Given the description of an element on the screen output the (x, y) to click on. 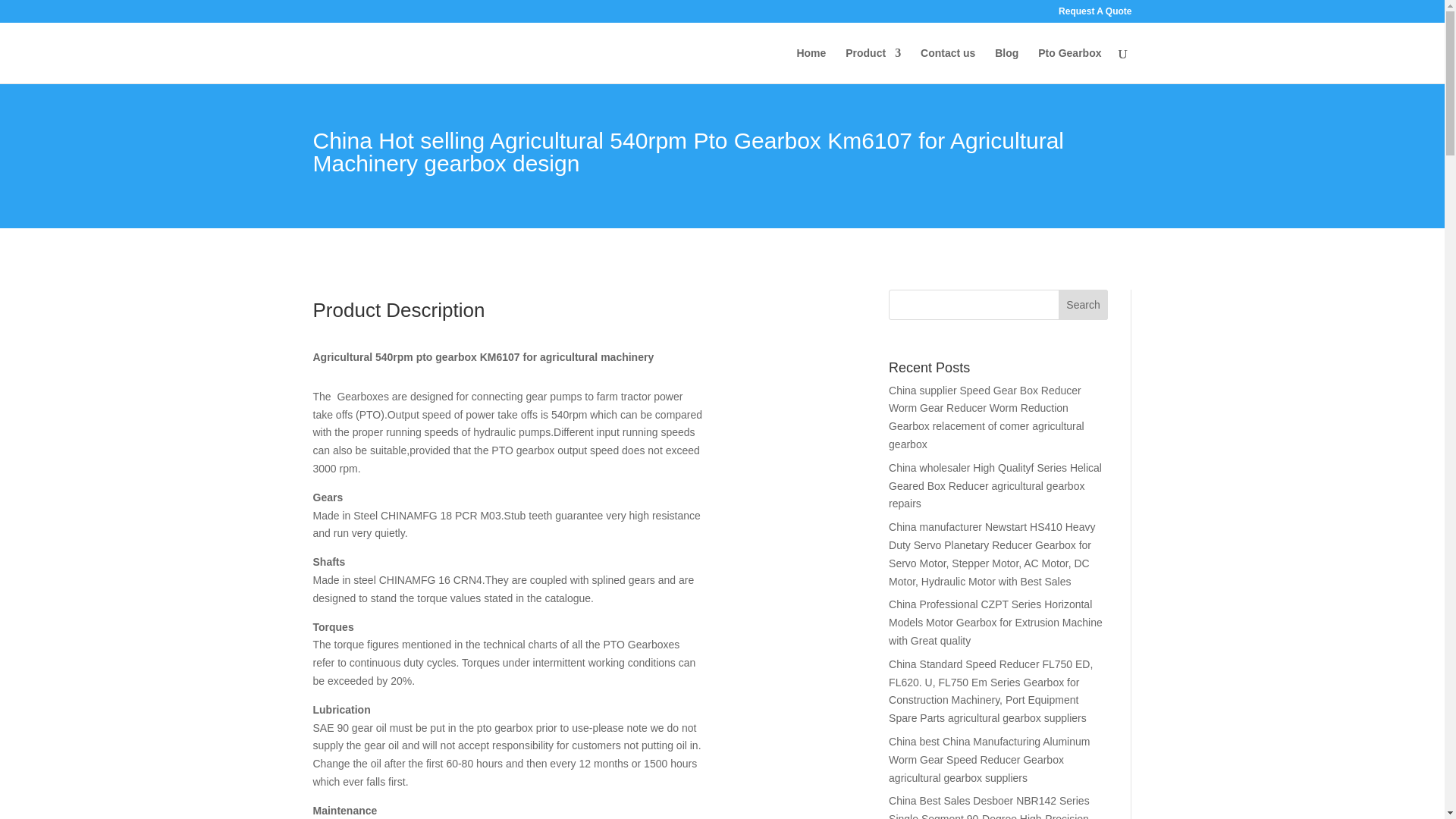
Contact us (947, 65)
Search (1083, 304)
Search (1083, 304)
Pto Gearbox (1069, 65)
Request A Quote (1094, 14)
Product (873, 65)
